Given the description of an element on the screen output the (x, y) to click on. 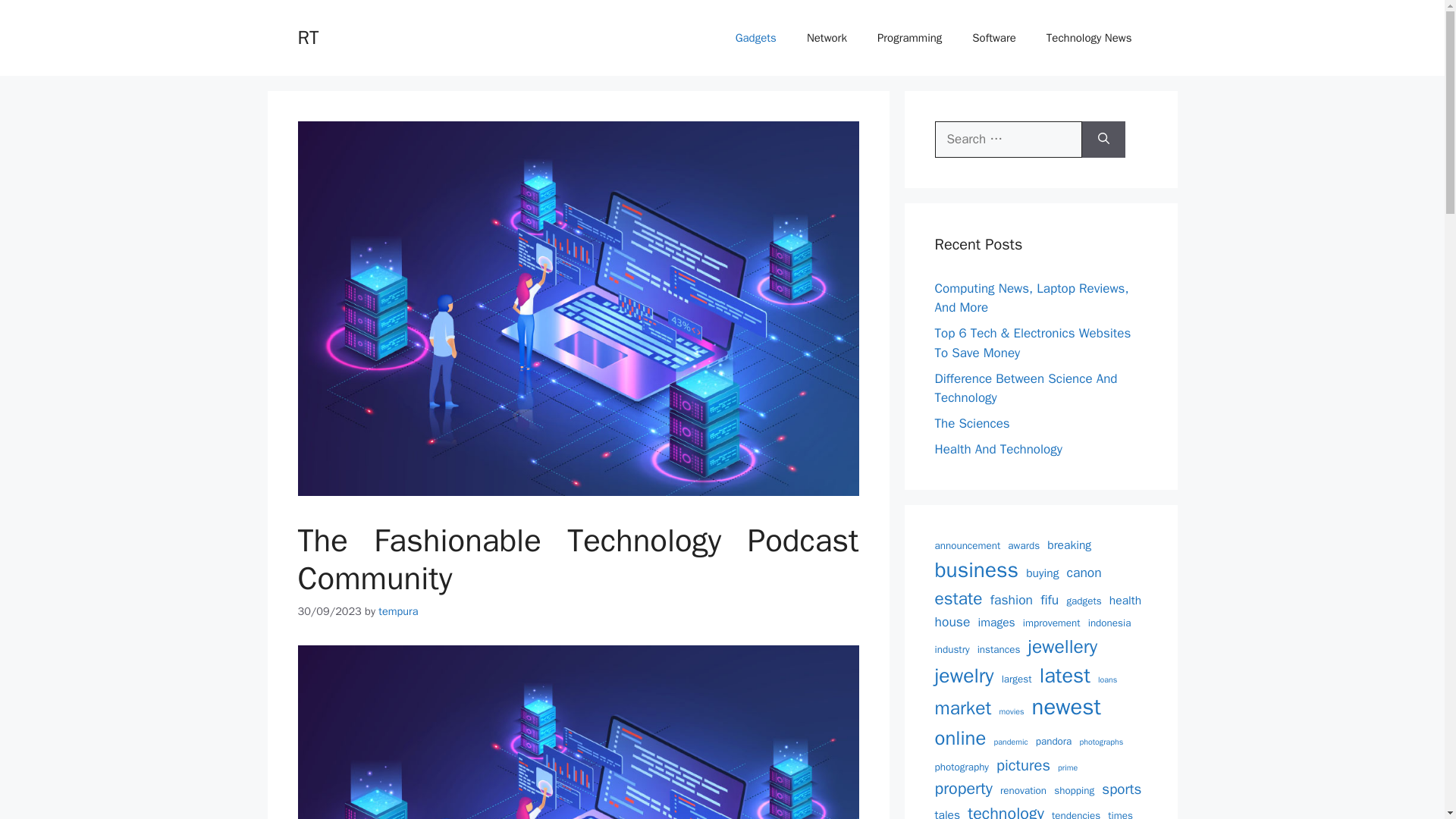
fifu (1049, 599)
The Sciences (971, 423)
Search for: (1007, 139)
Gadgets (756, 37)
Network (826, 37)
jewelry (963, 675)
instances (998, 649)
improvement (1051, 622)
Software (993, 37)
images (995, 622)
breaking (1068, 545)
jewellery (1062, 646)
canon (1084, 572)
Health And Technology (997, 449)
View all posts by tempura (397, 611)
